Given the description of an element on the screen output the (x, y) to click on. 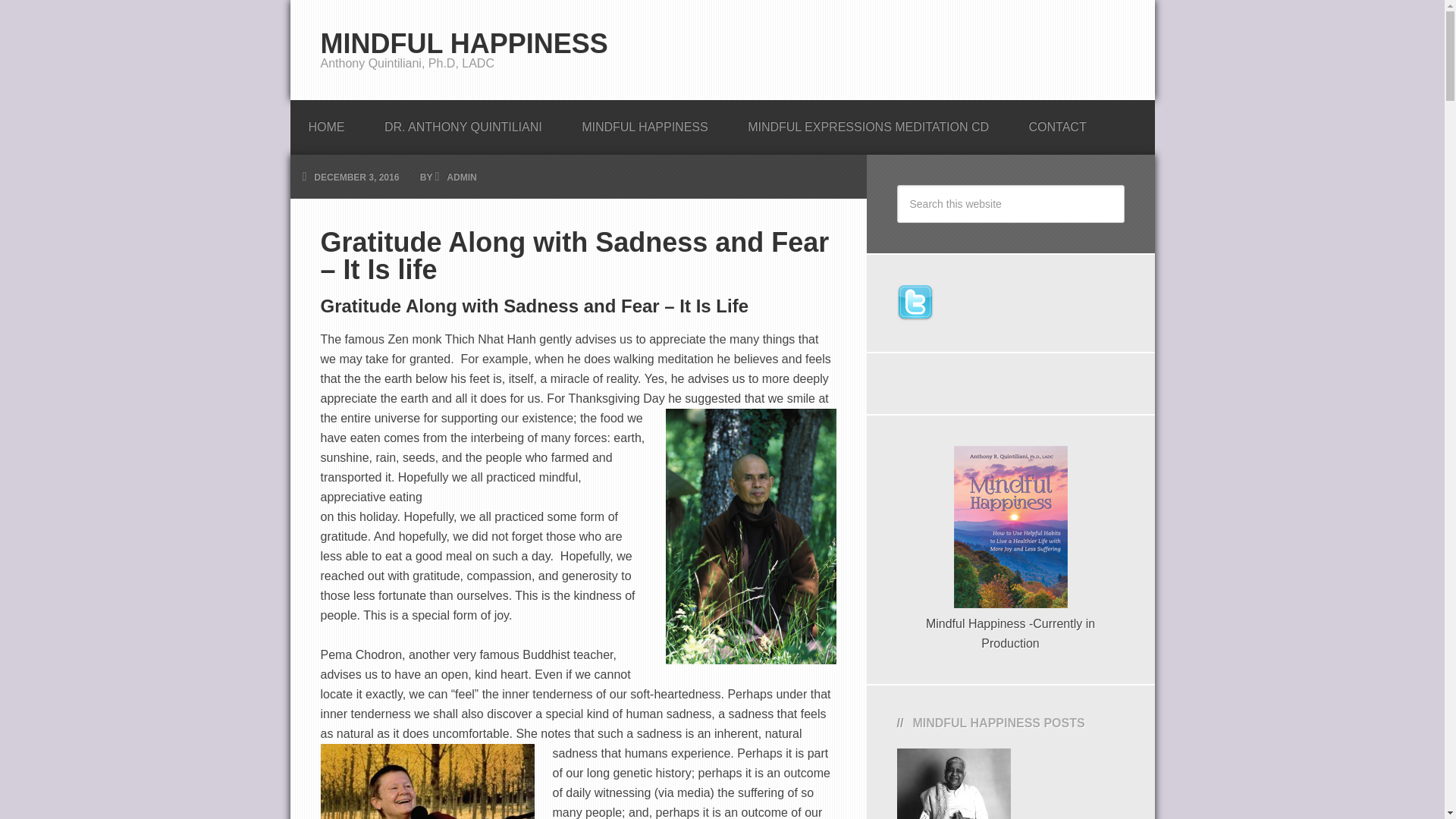
ADMIN (461, 176)
HOME (325, 122)
MINDFUL HAPPINESS (644, 122)
MINDFUL EXPRESSIONS MEDITATION CD (868, 122)
MINDFUL HAPPINESS (463, 42)
CONTACT (1057, 122)
DR. ANTHONY QUINTILIANI (463, 122)
